Given the description of an element on the screen output the (x, y) to click on. 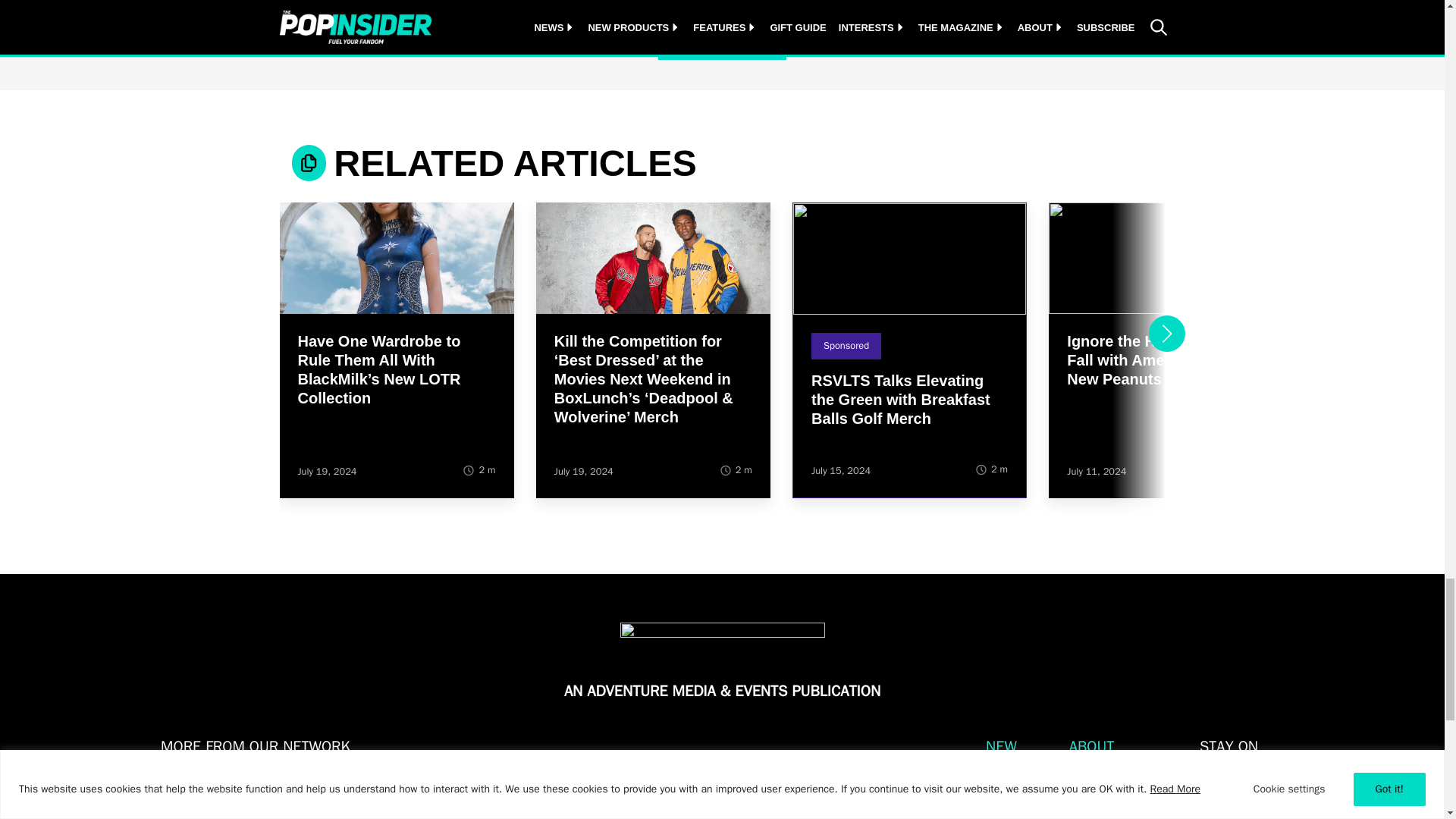
Submit (1241, 795)
